Given the description of an element on the screen output the (x, y) to click on. 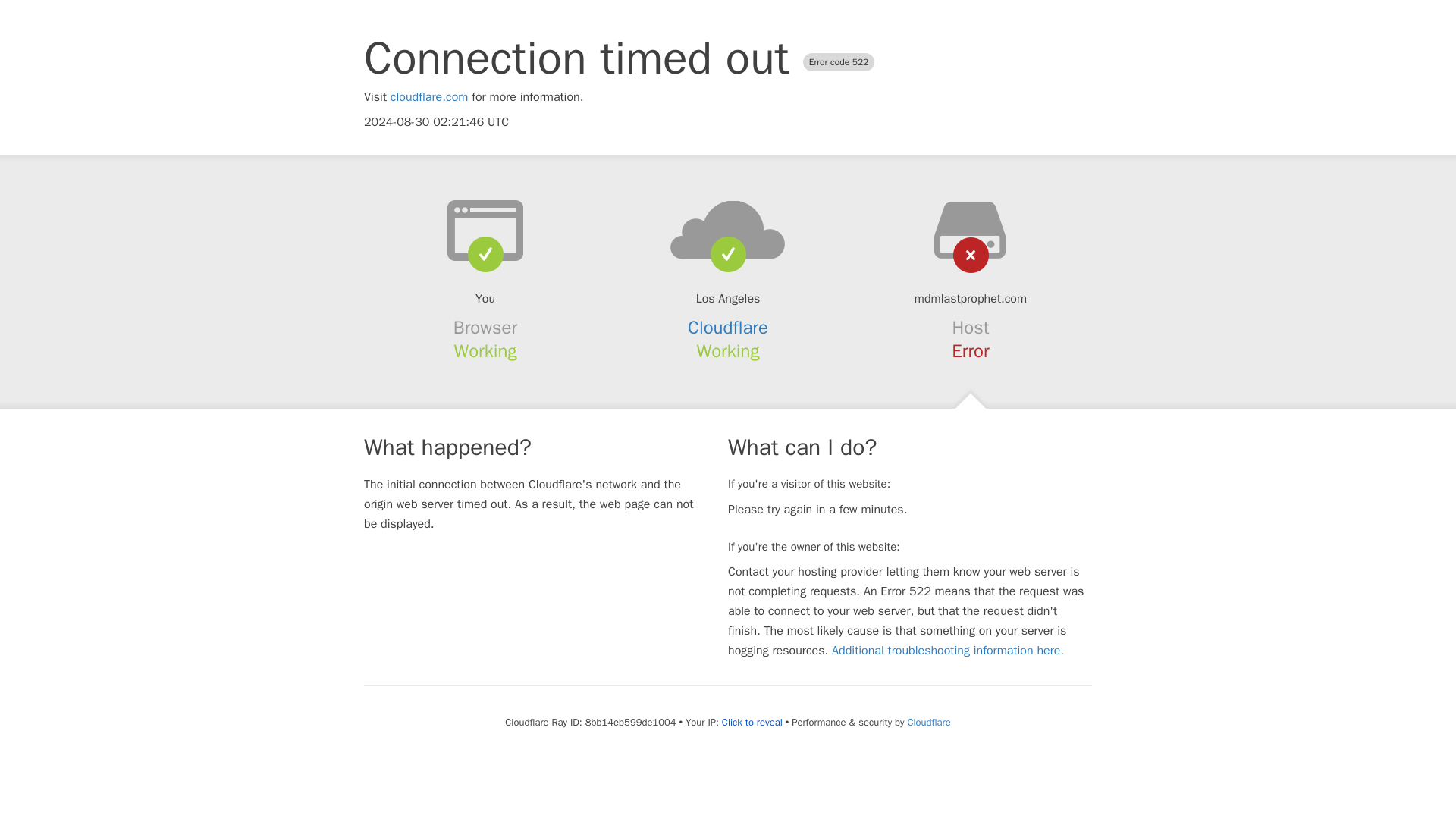
Additional troubleshooting information here. (947, 650)
Cloudflare (928, 721)
Cloudflare (727, 327)
cloudflare.com (429, 96)
Click to reveal (752, 722)
